Given the description of an element on the screen output the (x, y) to click on. 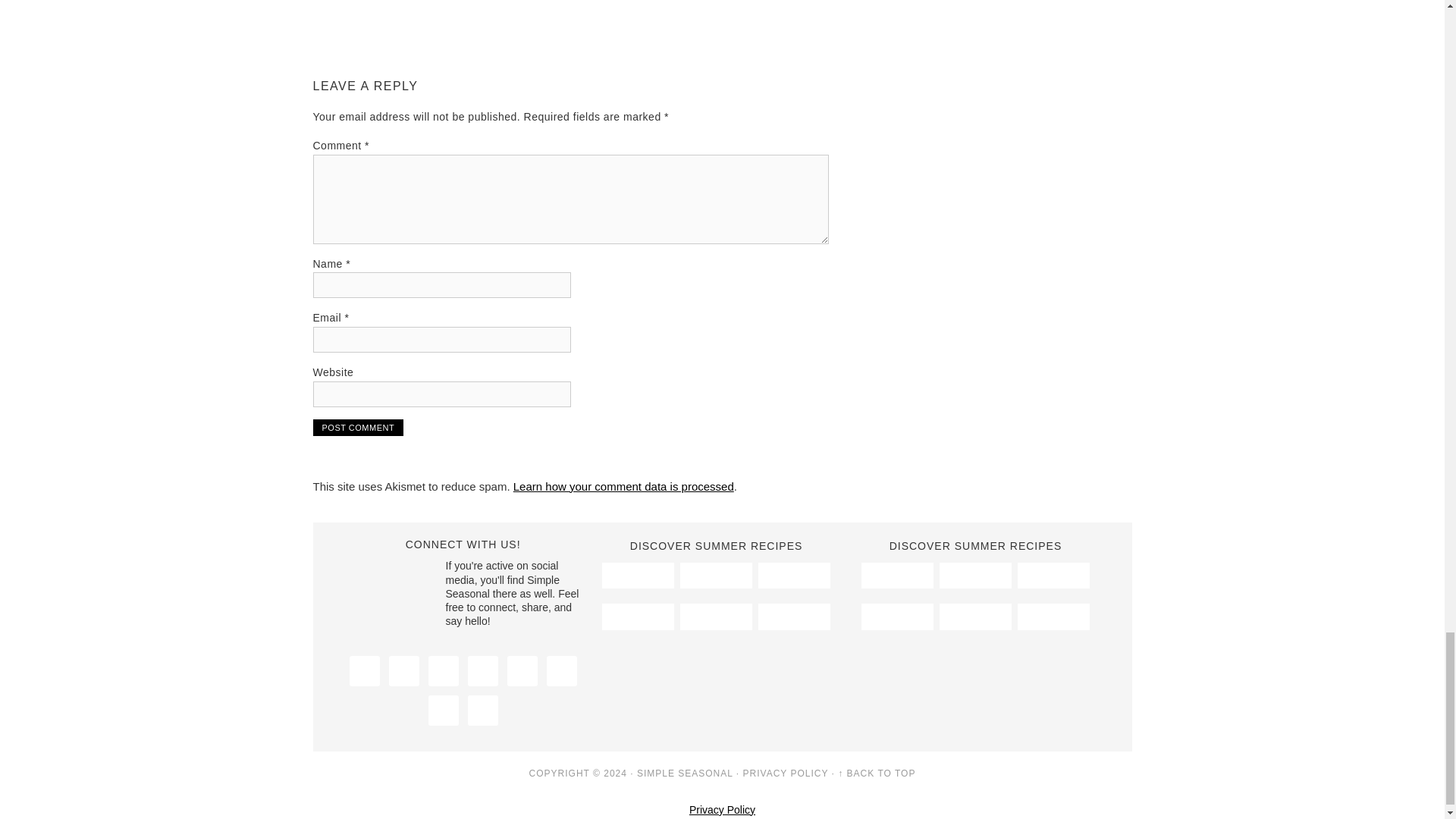
Post Comment (358, 427)
